Given the description of an element on the screen output the (x, y) to click on. 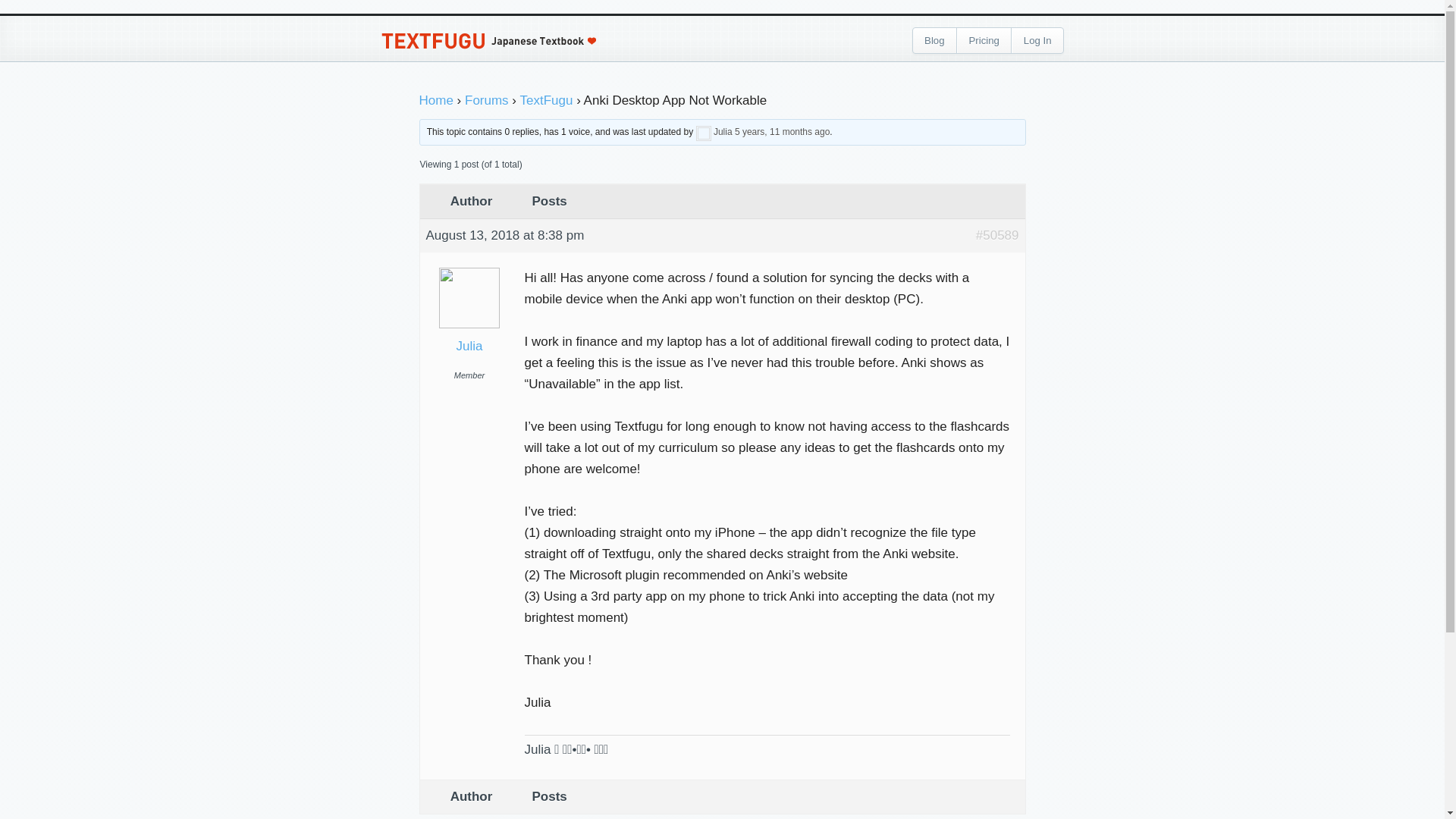
Forums (486, 100)
View Julia's profile (722, 131)
View Julia's profile (703, 131)
Log In (1036, 40)
Anki Desktop App Not Workable (782, 131)
Pricing (983, 40)
Julia (470, 346)
View Julia's profile (470, 346)
Julia (722, 131)
5 years, 11 months ago (782, 131)
Home (435, 100)
Blog (934, 40)
TextFugu (545, 100)
View Julia's profile (469, 268)
Anki Desktop App Not Workable (997, 235)
